Given the description of an element on the screen output the (x, y) to click on. 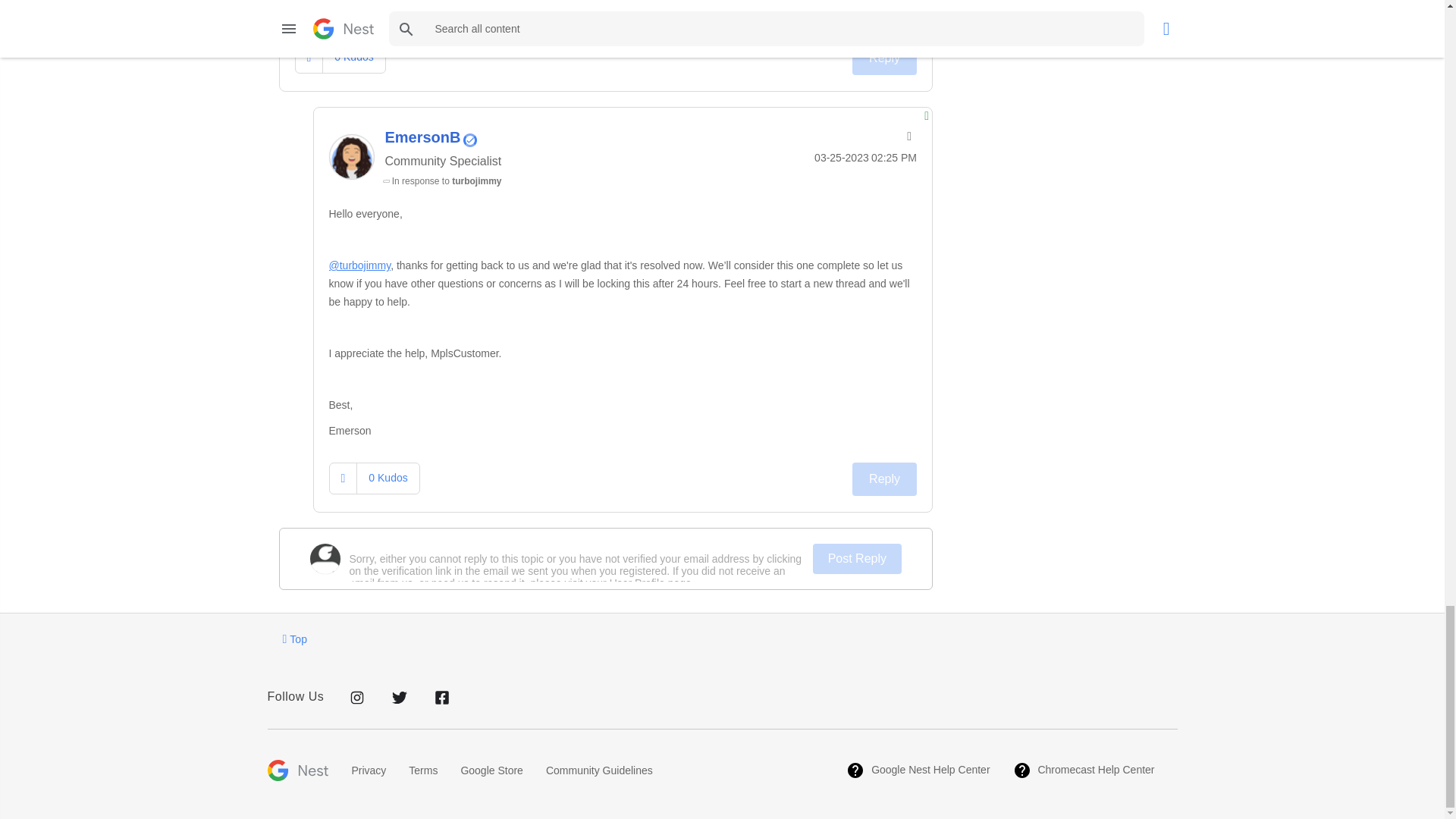
Top (293, 638)
Top (293, 638)
